Given the description of an element on the screen output the (x, y) to click on. 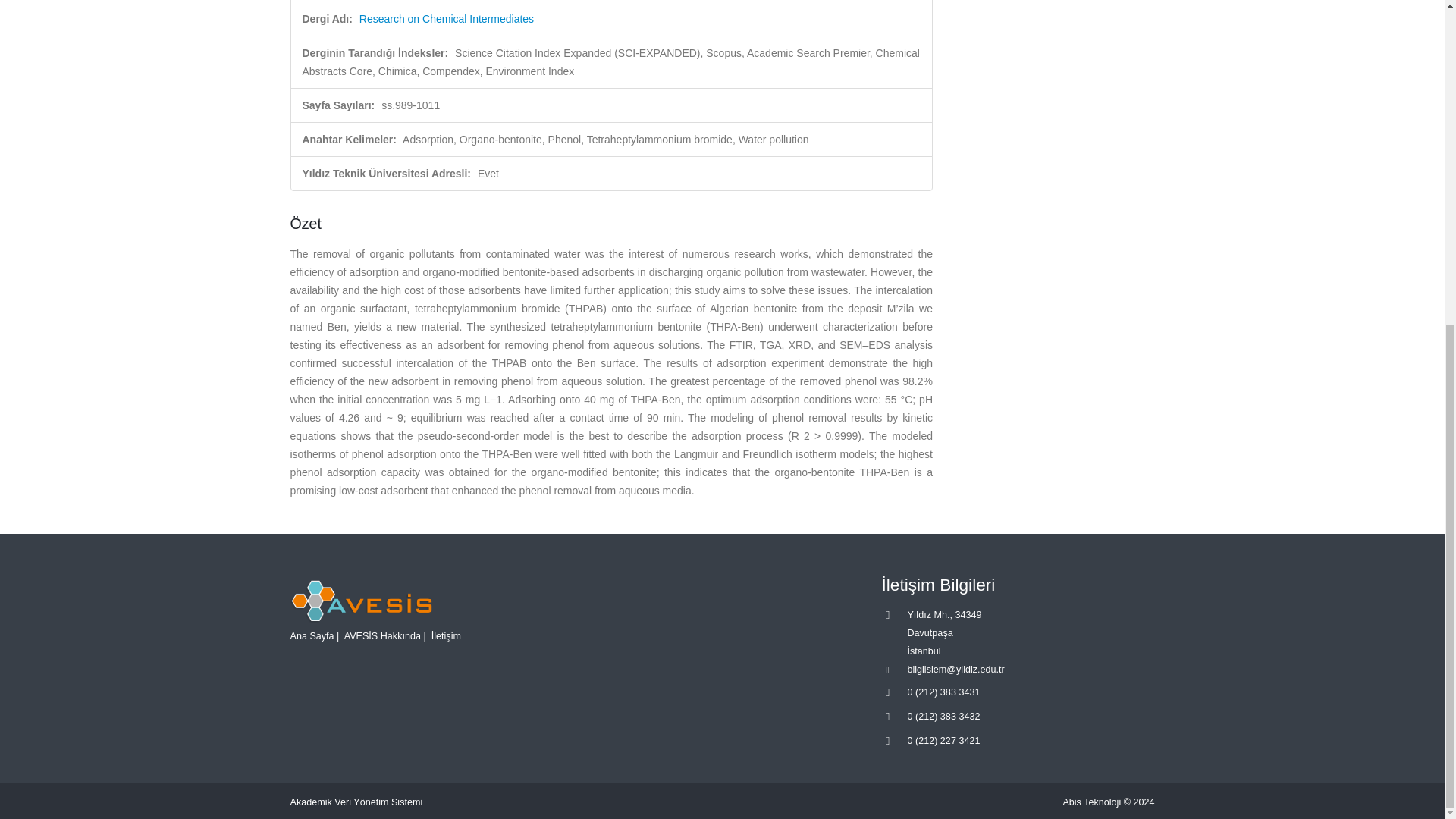
Ana Sayfa (311, 635)
Research on Chemical Intermediates (446, 19)
Abis Teknoloji (1091, 801)
